Given the description of an element on the screen output the (x, y) to click on. 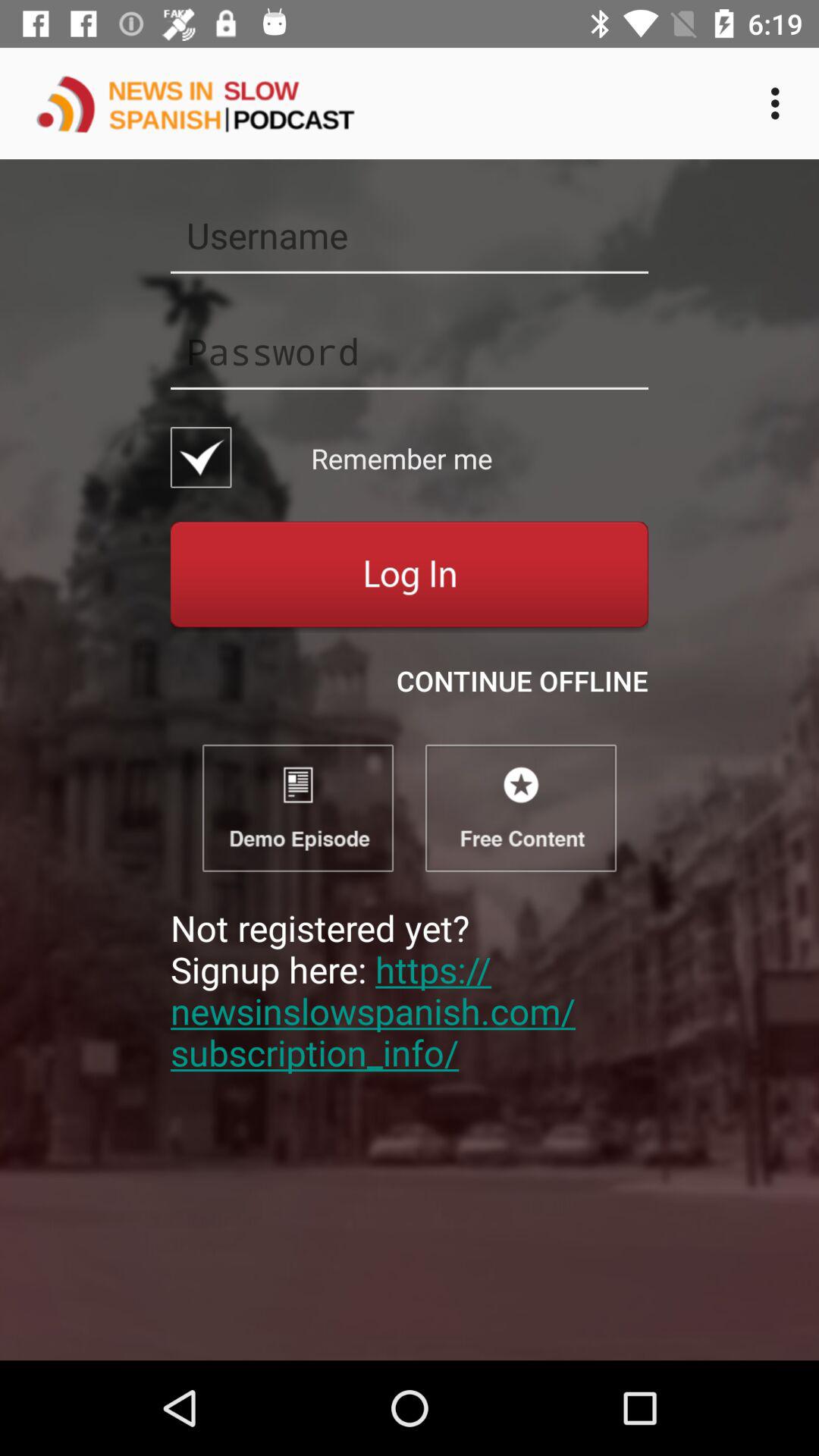
go to free content (520, 807)
